Given the description of an element on the screen output the (x, y) to click on. 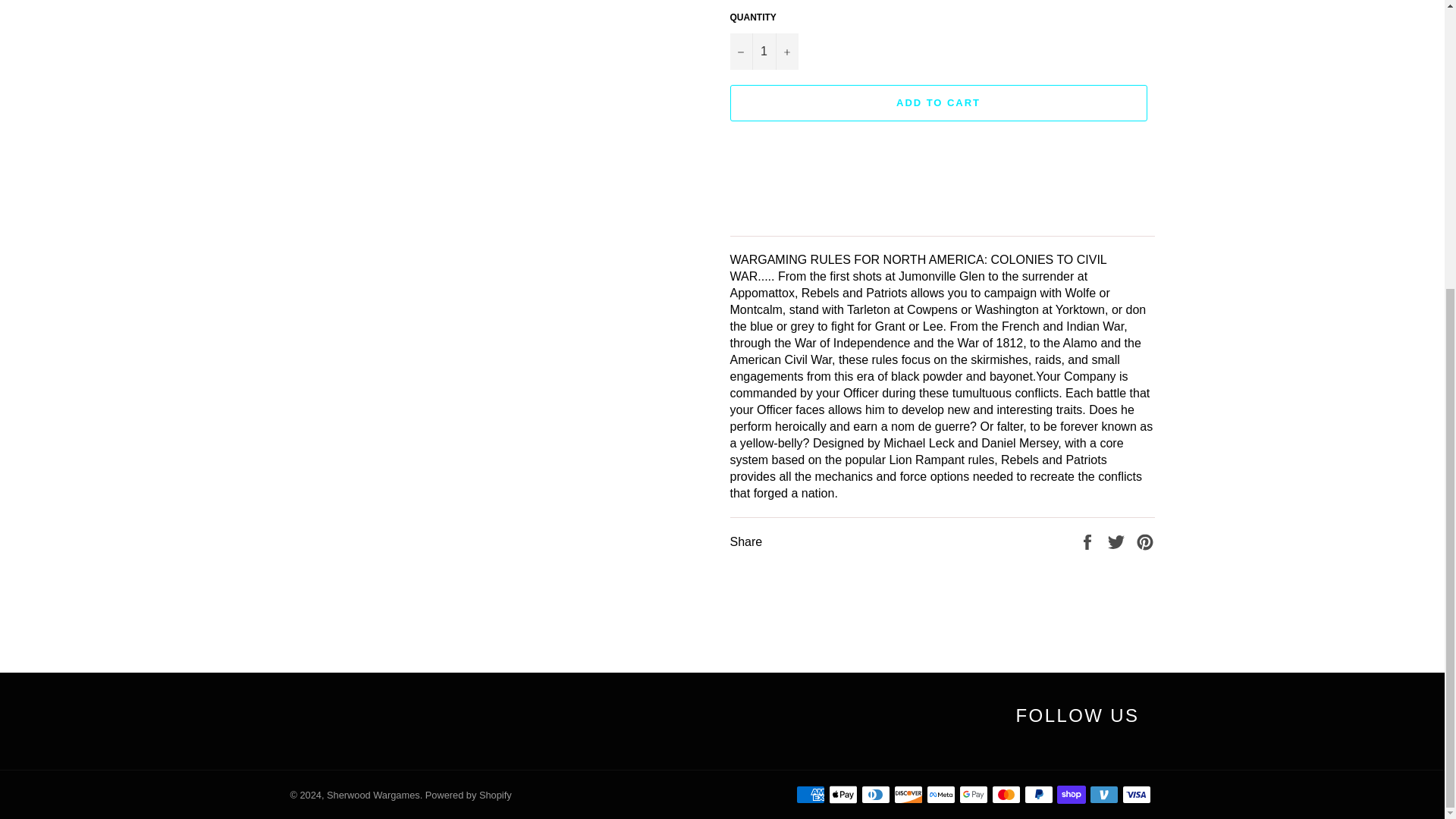
Share on Facebook (1088, 540)
1 (763, 51)
Pin on Pinterest (1144, 540)
Tweet on Twitter (1117, 540)
